Given the description of an element on the screen output the (x, y) to click on. 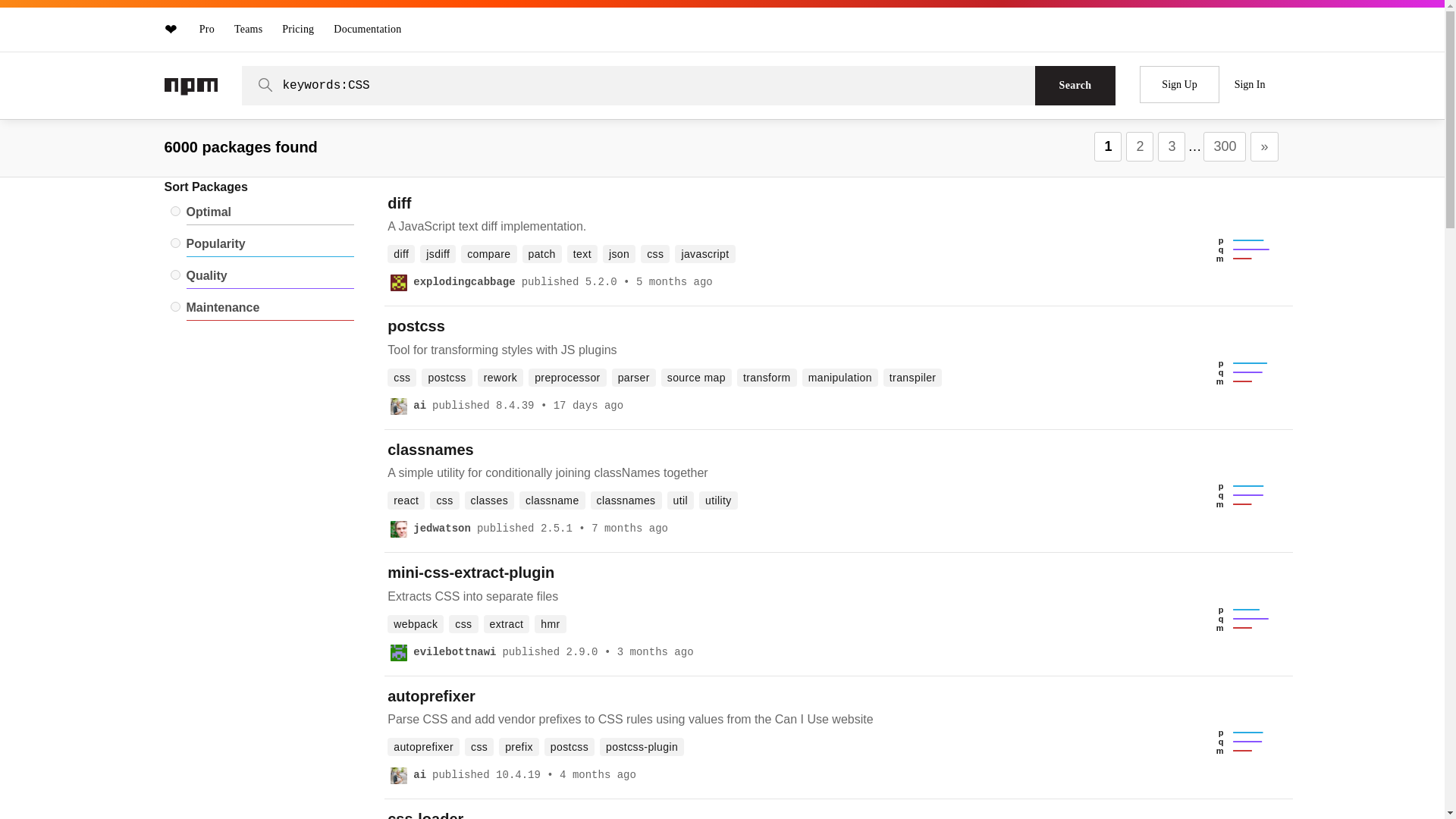
quality (174, 275)
Documentation (367, 29)
text (581, 253)
css (654, 253)
Sign Up (1179, 84)
compare (488, 253)
classnames (430, 449)
300 (1225, 146)
2 (1139, 146)
Pro (207, 29)
patch (540, 253)
keywords:CSS (652, 85)
rework (499, 377)
manipulation (839, 377)
transpiler (912, 377)
